Given the description of an element on the screen output the (x, y) to click on. 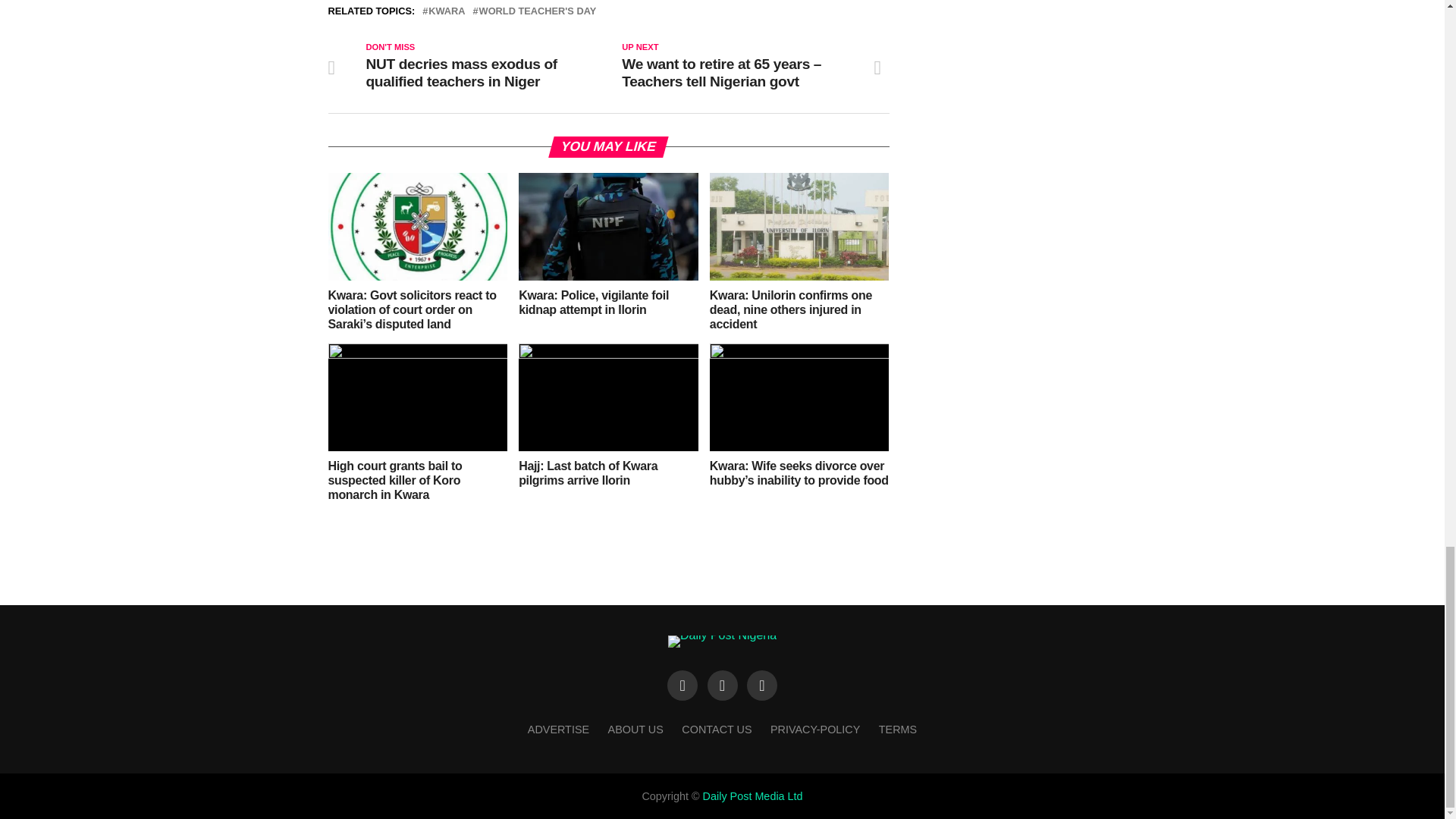
WORLD TEACHER'S DAY (537, 11)
KWARA (446, 11)
ADVERTISE (558, 729)
